Given the description of an element on the screen output the (x, y) to click on. 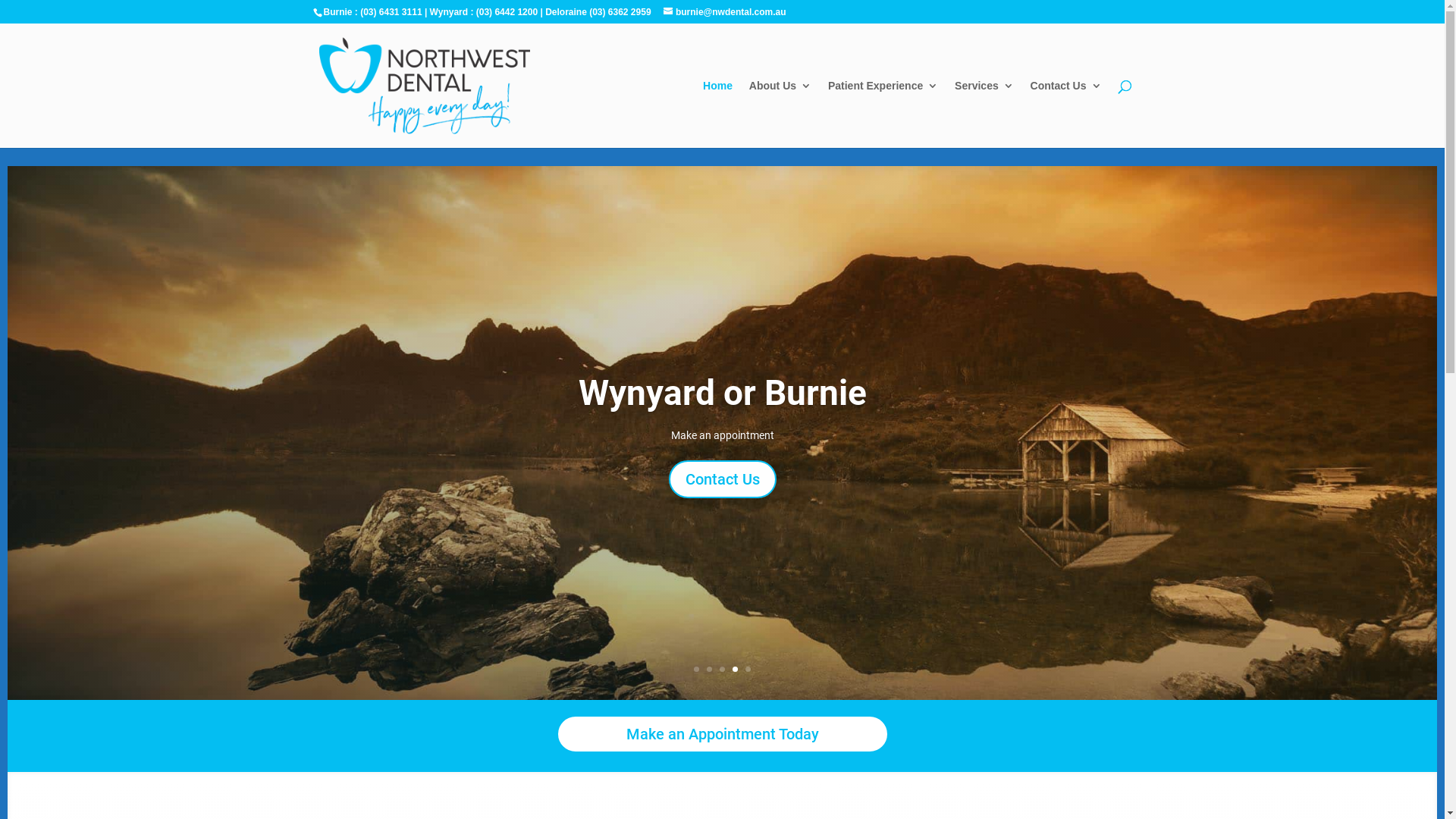
2 Element type: text (709, 668)
4 Element type: text (734, 668)
Wynyard or Burnie Element type: text (721, 392)
Patient Experience Element type: text (883, 113)
Services Element type: text (983, 113)
3 Element type: text (721, 668)
5 Element type: text (747, 668)
About Us Element type: text (780, 113)
Contact Us Element type: text (722, 479)
Contact Us Element type: text (1065, 113)
Make an Appointment Today Element type: text (722, 734)
Home Element type: text (717, 113)
1 Element type: text (696, 668)
